Given the description of an element on the screen output the (x, y) to click on. 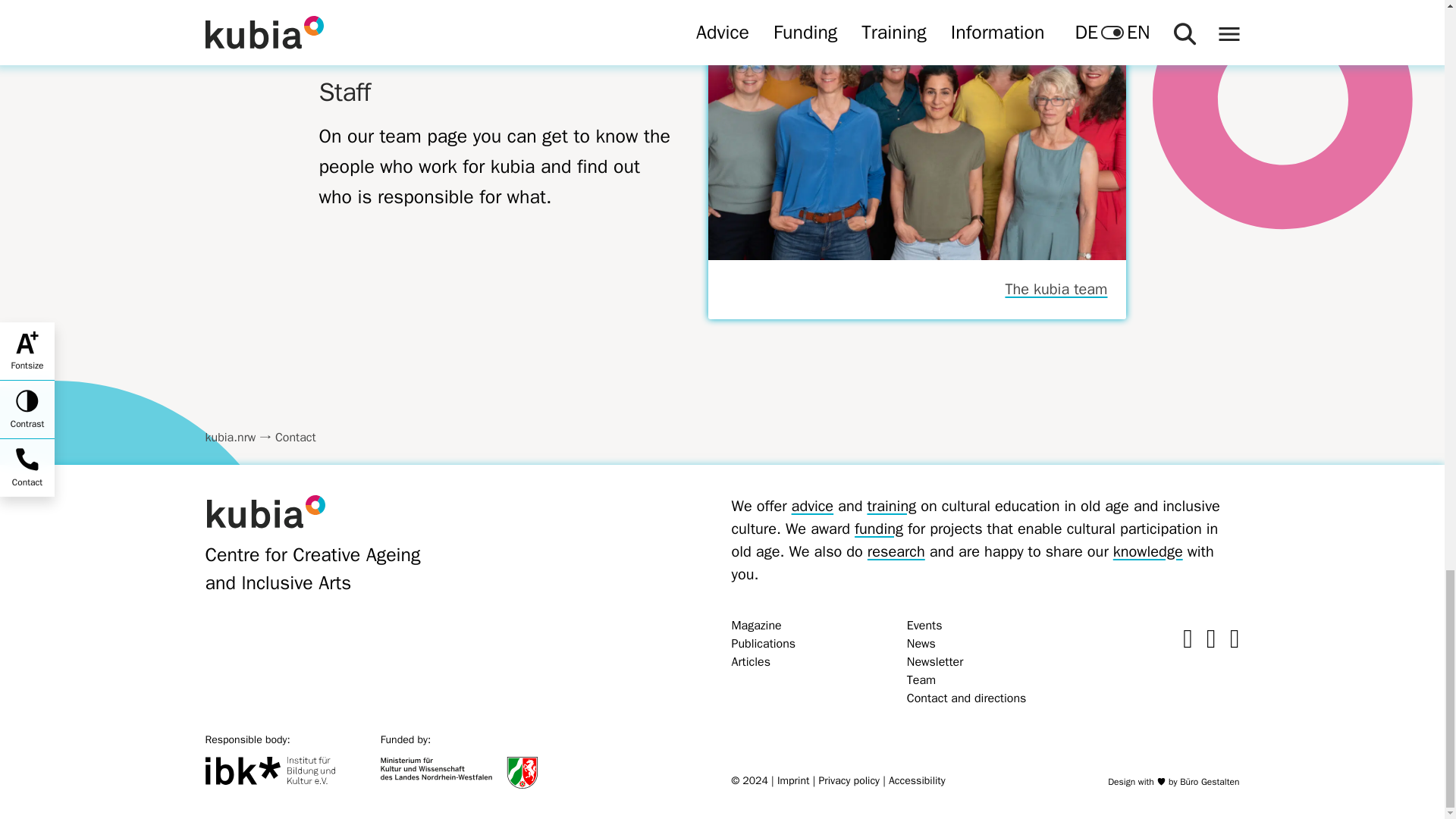
kubia.nrw (230, 437)
The kubia team (916, 289)
To the home page (264, 510)
kubia.nrw (230, 437)
